Given the description of an element on the screen output the (x, y) to click on. 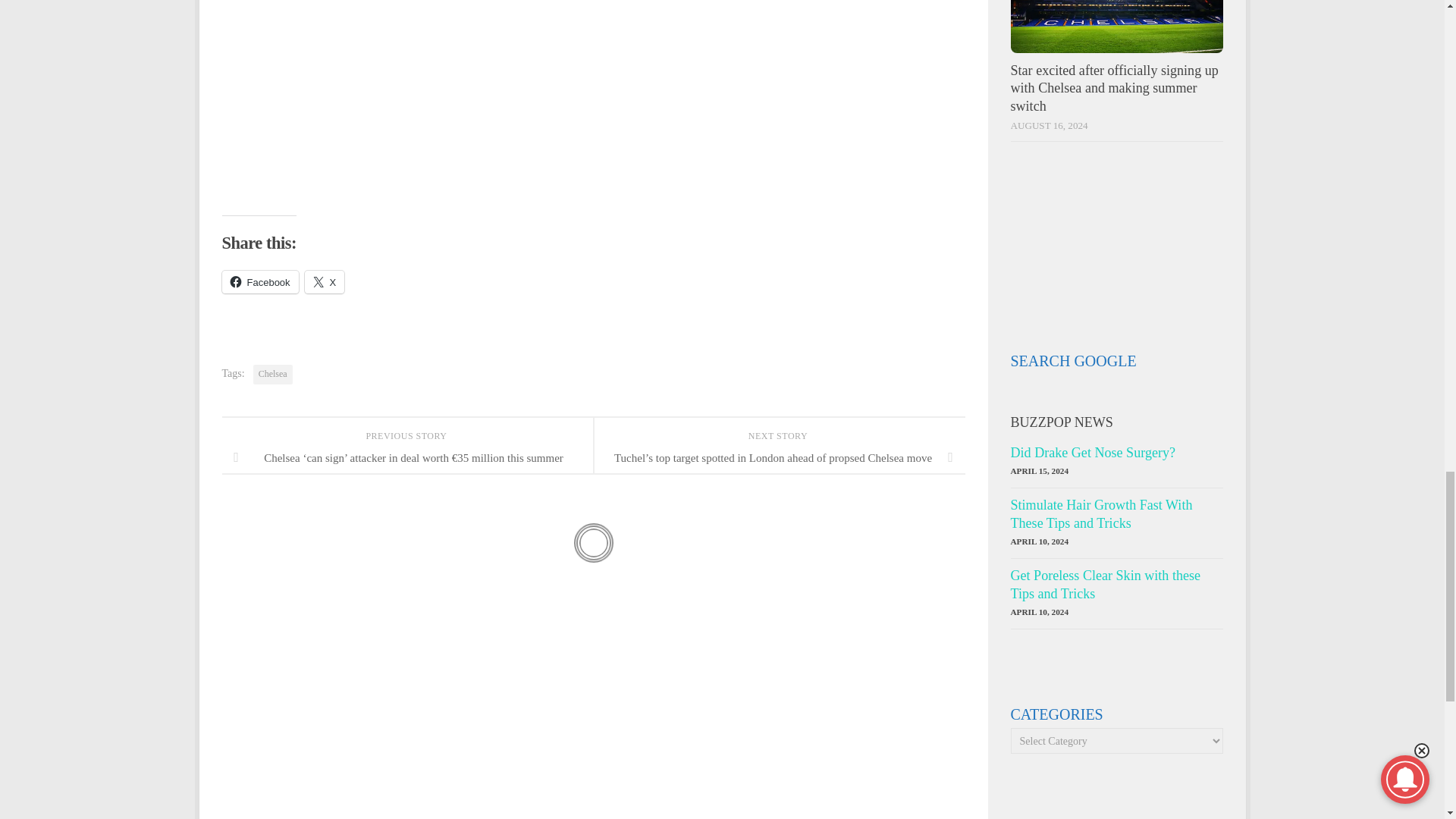
X (324, 282)
Click to share on Facebook (259, 282)
Click to share on X (324, 282)
Chelsea (272, 374)
Facebook (259, 282)
